Given the description of an element on the screen output the (x, y) to click on. 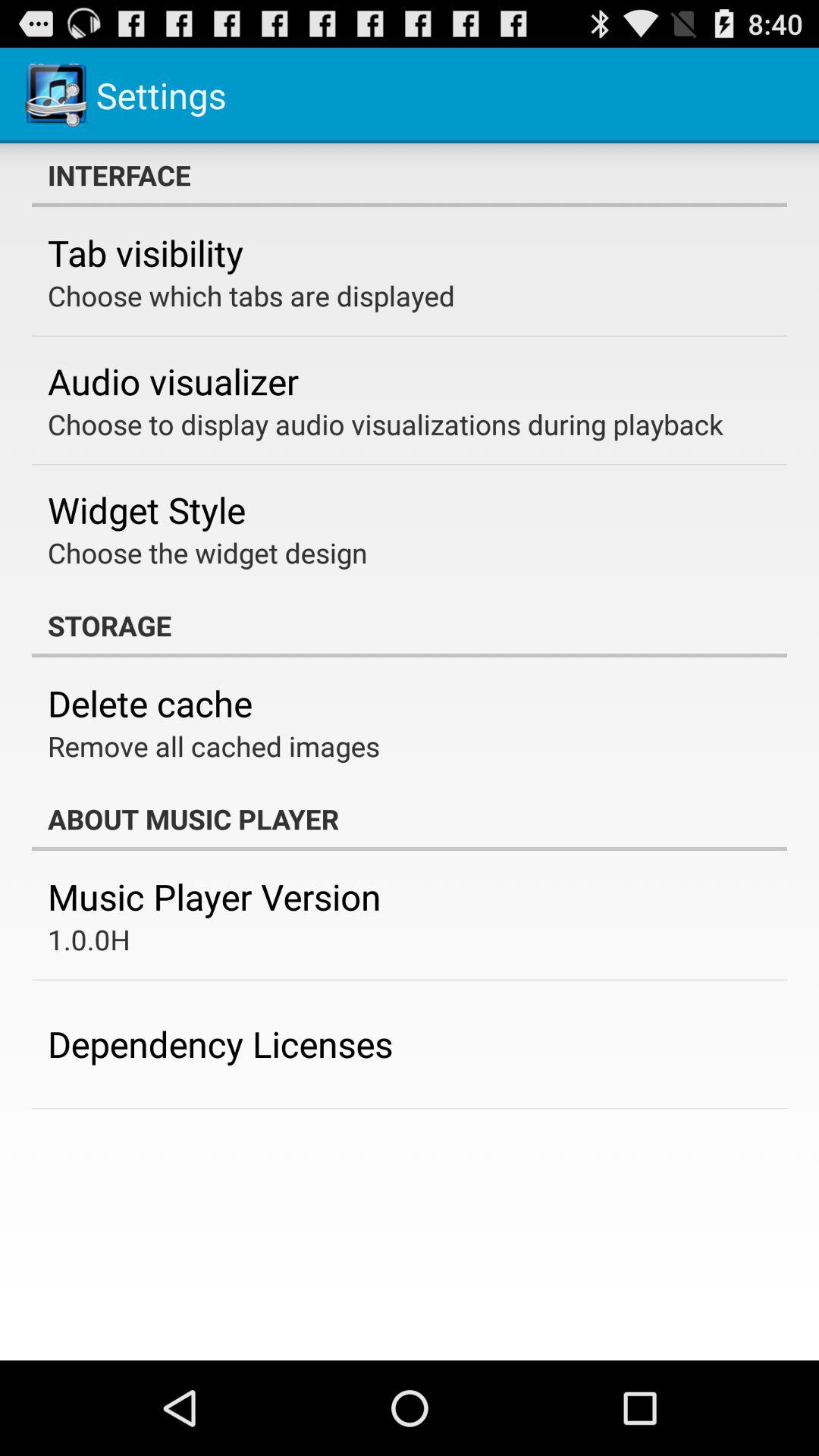
turn on icon below the delete cache (213, 745)
